Given the description of an element on the screen output the (x, y) to click on. 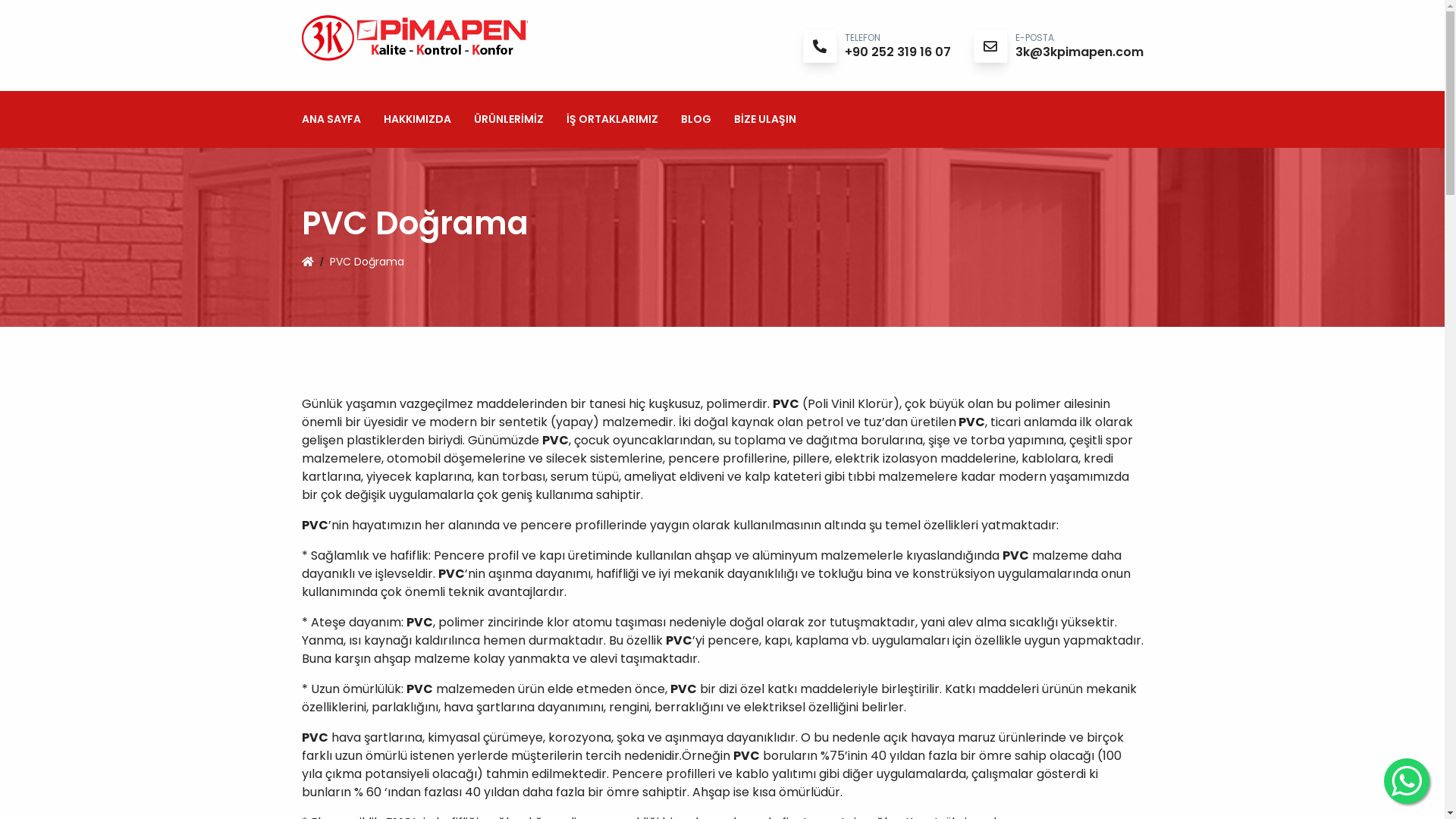
BLOG Element type: text (695, 119)
TELEFON
+90 252 319 16 07 Element type: text (897, 45)
ANA SAYFA Element type: text (330, 119)
HAKKIMIZDA Element type: text (417, 119)
E-POSTA
3k@3kpimapen.com Element type: text (1078, 45)
